Given the description of an element on the screen output the (x, y) to click on. 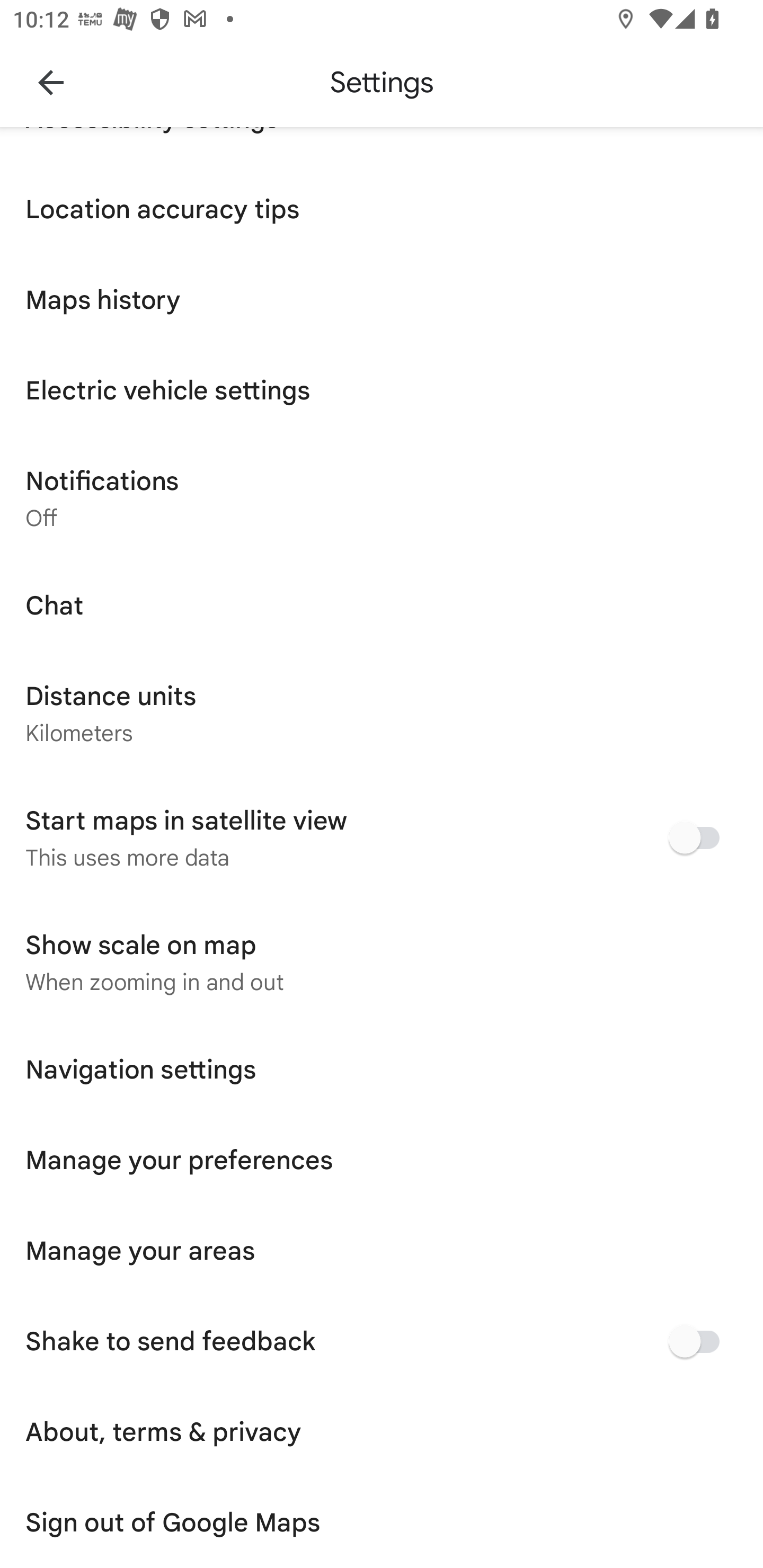
Navigate up (50, 81)
Location accuracy tips (381, 209)
Maps history (381, 299)
Electric vehicle settings (381, 389)
Notifications Off (381, 497)
Chat (381, 604)
Distance units Kilometers (381, 713)
Start maps in satellite view This uses more data (381, 838)
Show scale on map When zooming in and out (381, 961)
Navigation settings (381, 1068)
Manage your preferences (381, 1159)
Manage your areas (381, 1250)
Shake to send feedback (381, 1341)
About, terms & privacy (381, 1431)
Sign out of Google Maps (381, 1522)
